Given the description of an element on the screen output the (x, y) to click on. 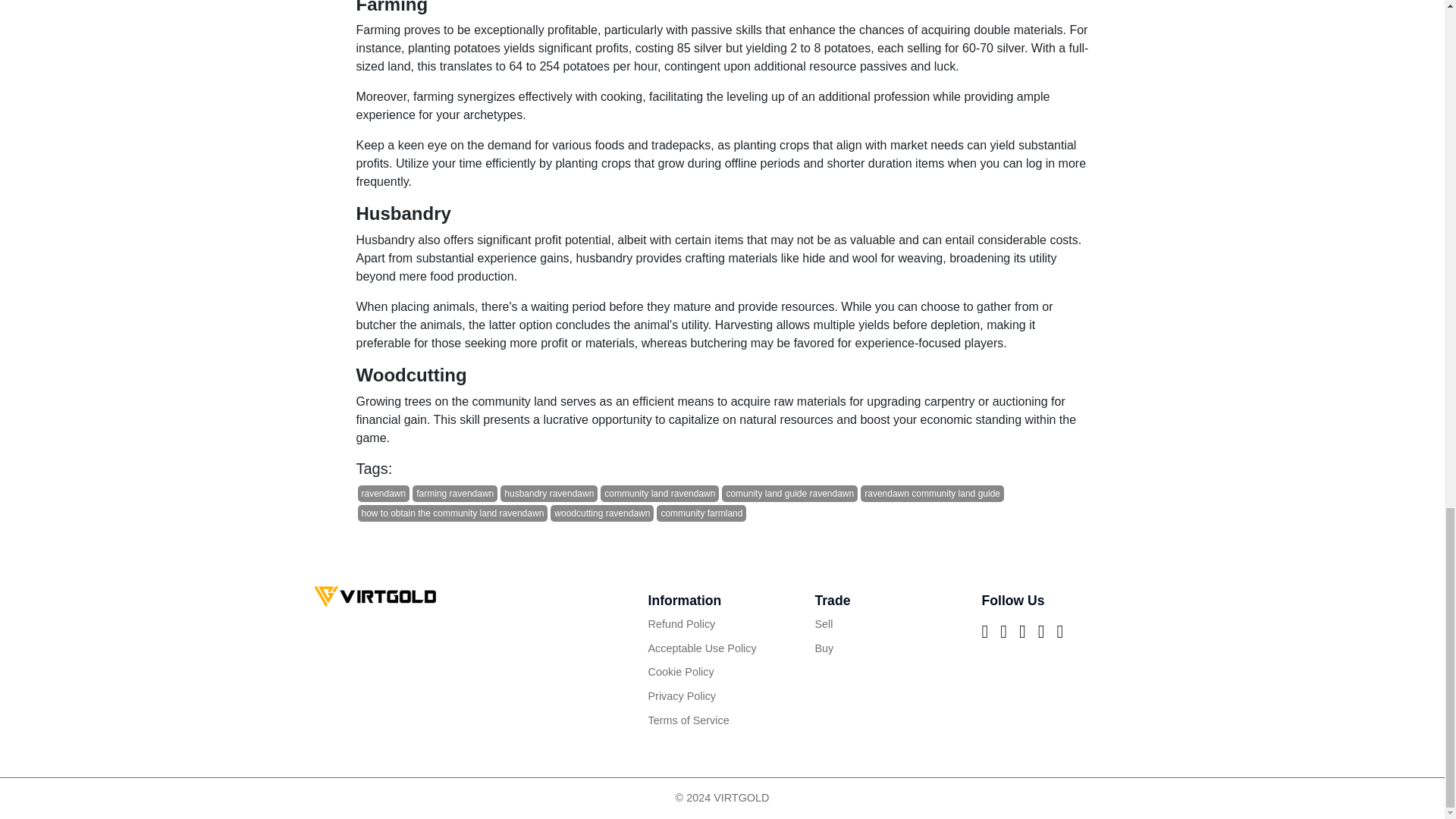
community farmland (700, 513)
Privacy Policy (721, 696)
community land ravendawn (659, 493)
husbandry ravendawn (548, 493)
how to obtain the community land ravendawn (453, 513)
woodcutting ravendawn (601, 513)
ravendawn community land guide (932, 493)
ravendawn (384, 493)
Refund Policy (721, 624)
farming ravendawn (454, 493)
Acceptable Use Policy (721, 648)
Customer reviews powered by Trustpilot (721, 743)
comunity land guide ravendawn (789, 493)
Cookie Policy (721, 672)
